Given the description of an element on the screen output the (x, y) to click on. 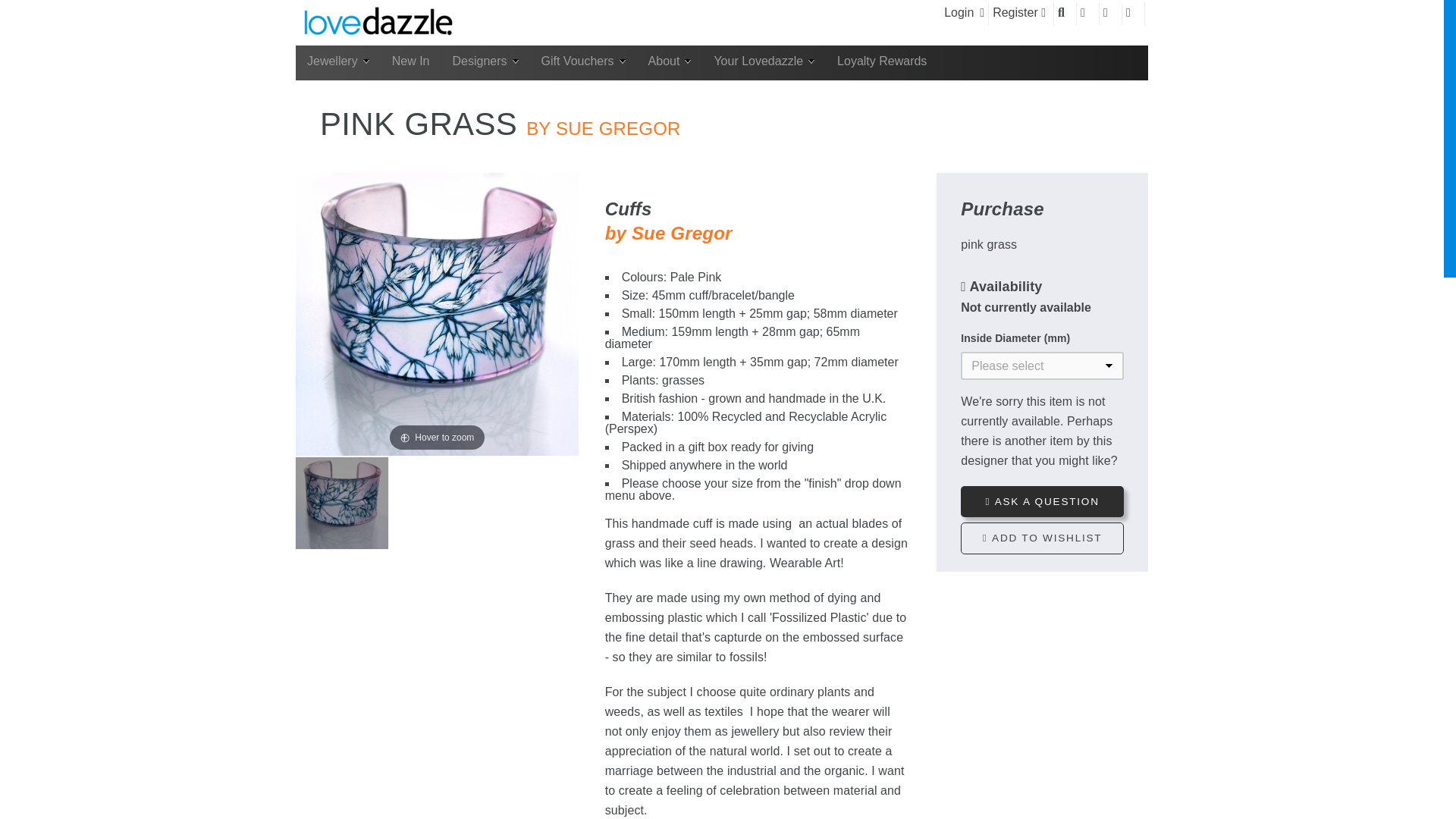
New In (410, 62)
Search (1064, 14)
Login (964, 14)
back to Sue Gregor's page (668, 244)
My Basket (1133, 14)
pink grass cuff (341, 503)
Designers (485, 62)
My Account (1088, 14)
back to the jewellery designer Sue Gregor's page (602, 127)
Jewellery (337, 62)
My Wishlist (1110, 14)
Register (1018, 14)
Ask a question (1042, 501)
Add to wishlist (1042, 538)
Register (1018, 14)
